Given the description of an element on the screen output the (x, y) to click on. 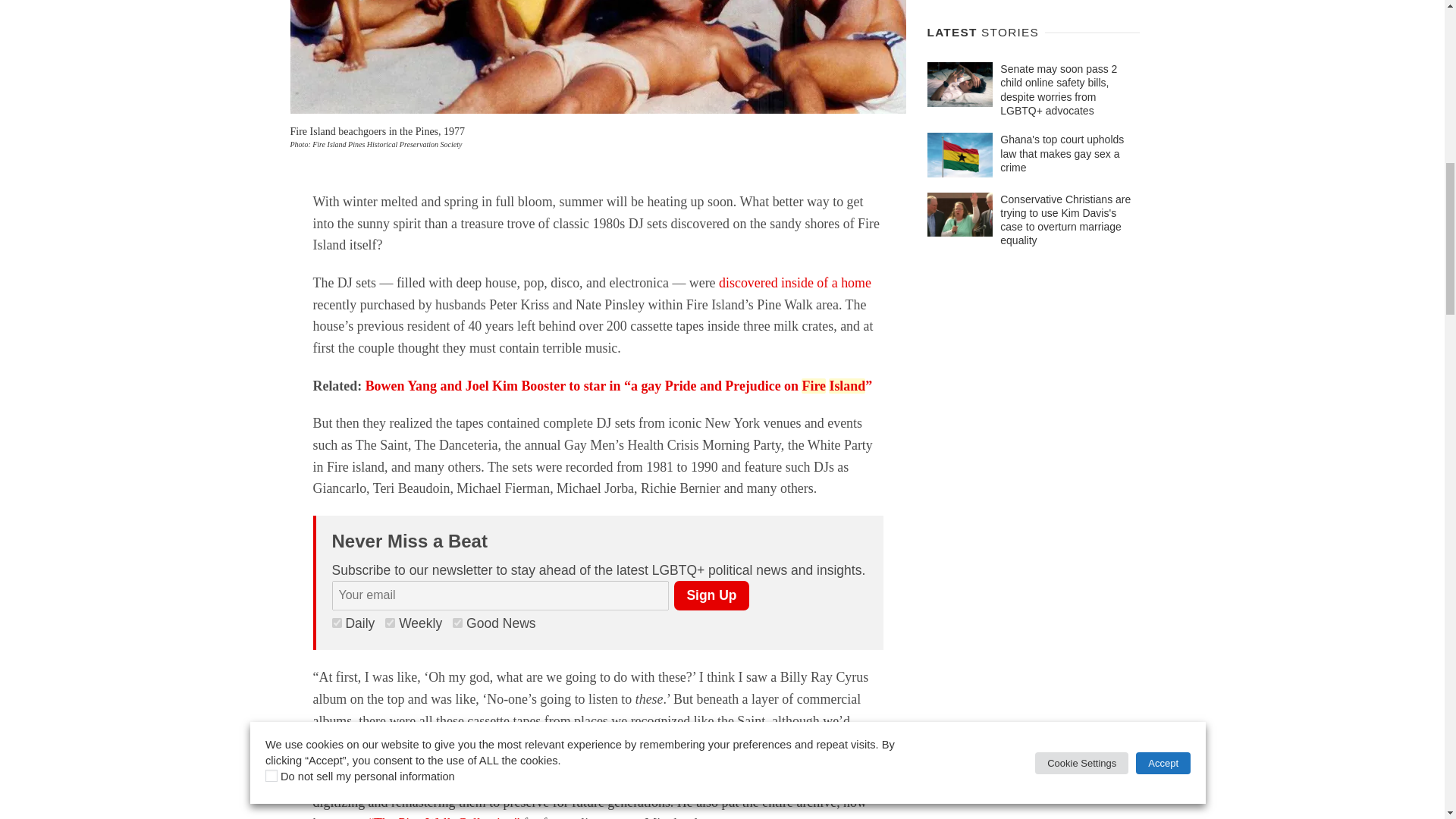
Sign Up (711, 595)
discovered inside of a home (794, 282)
1920885 (336, 623)
fire-island-pine-walk-collection (597, 56)
1920884 (389, 623)
1920883 (457, 623)
